Given the description of an element on the screen output the (x, y) to click on. 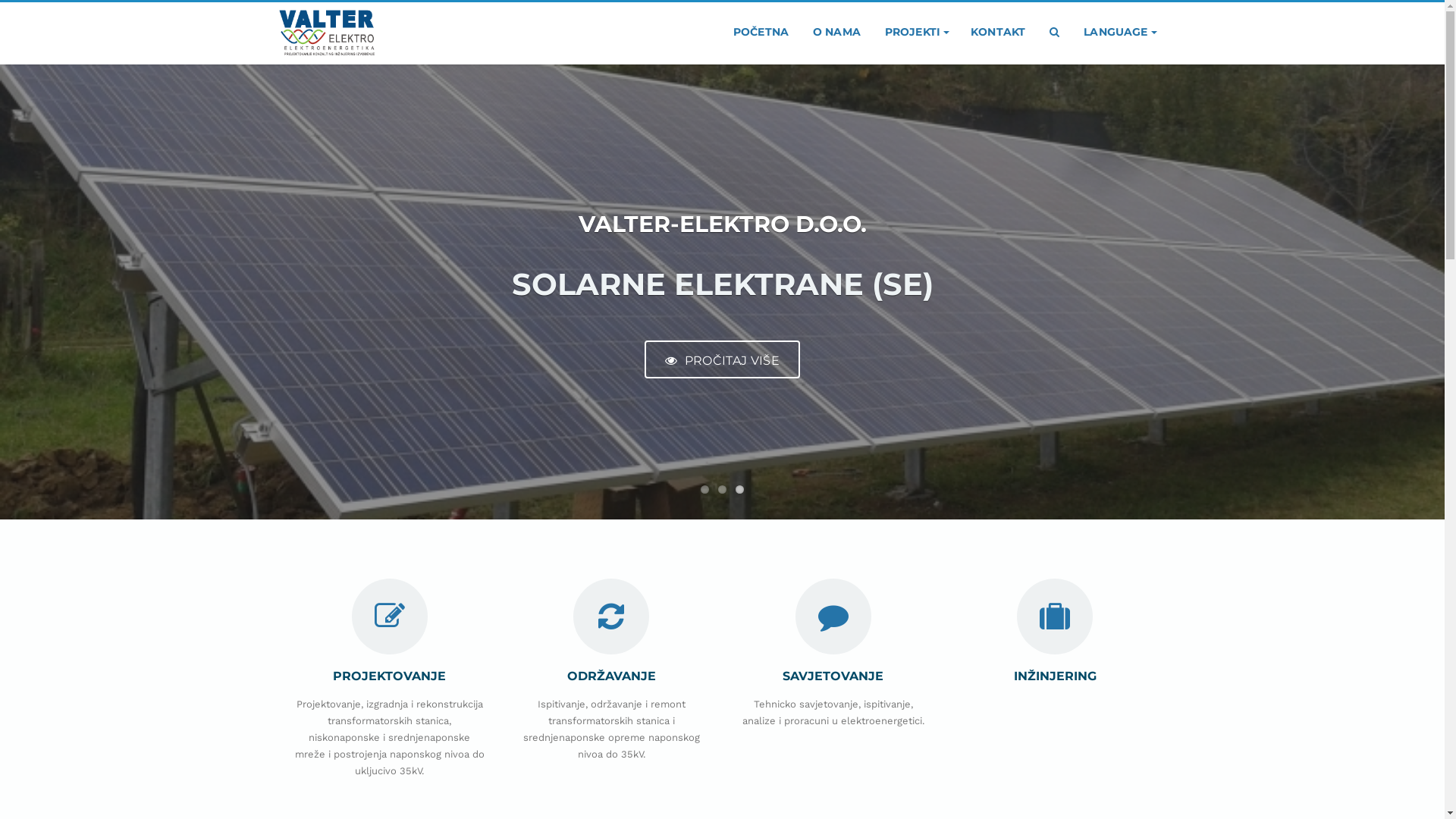
O NAMA Element type: text (836, 31)
3 Element type: text (739, 489)
KONTAKT Element type: text (997, 31)
LANGUAGE Element type: text (1118, 31)
1 Element type: text (704, 489)
2 Element type: text (722, 489)
PROJEKTI Element type: text (915, 31)
